Given the description of an element on the screen output the (x, y) to click on. 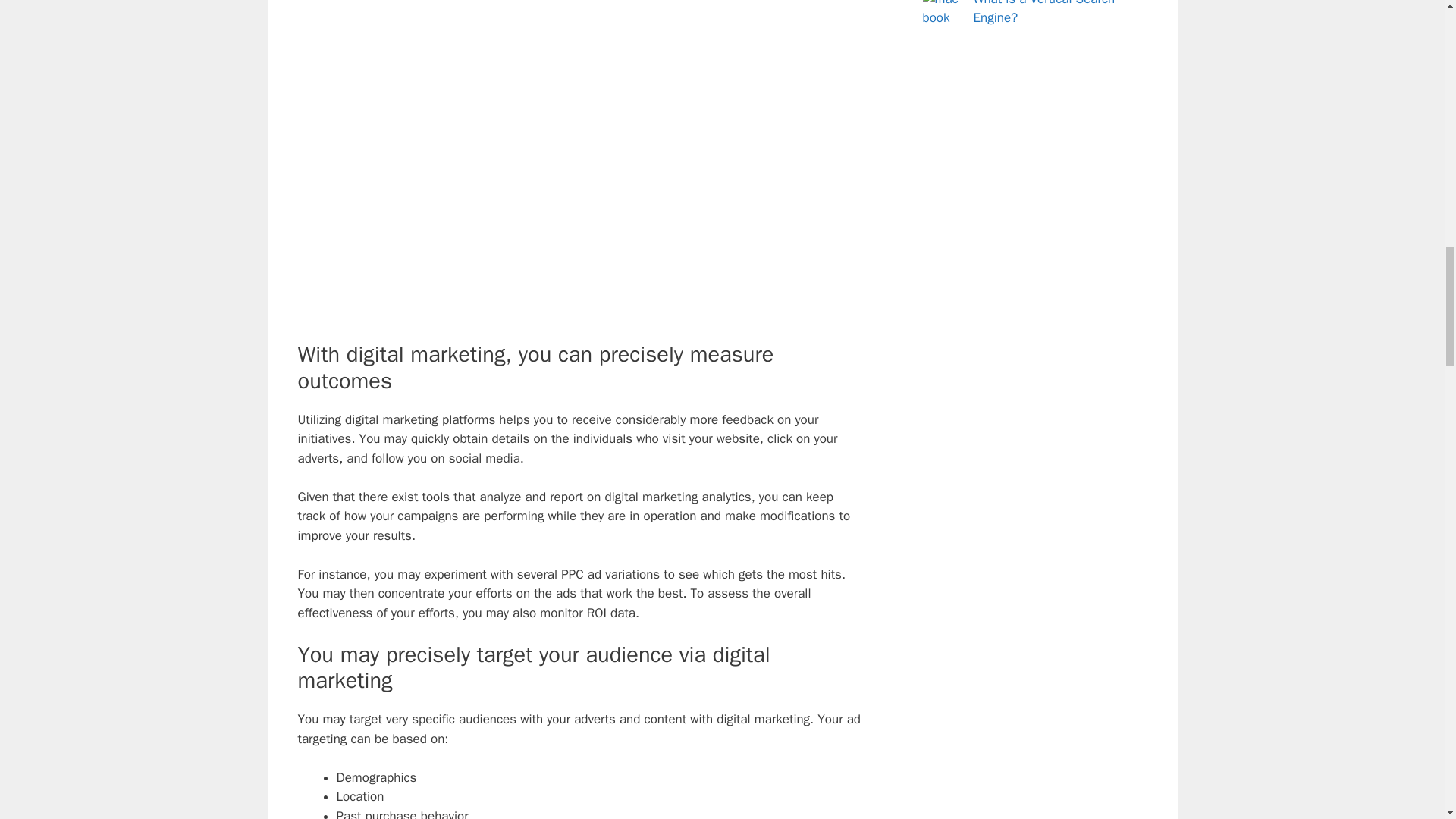
What is a Vertical Search Engine? (1044, 13)
